Given the description of an element on the screen output the (x, y) to click on. 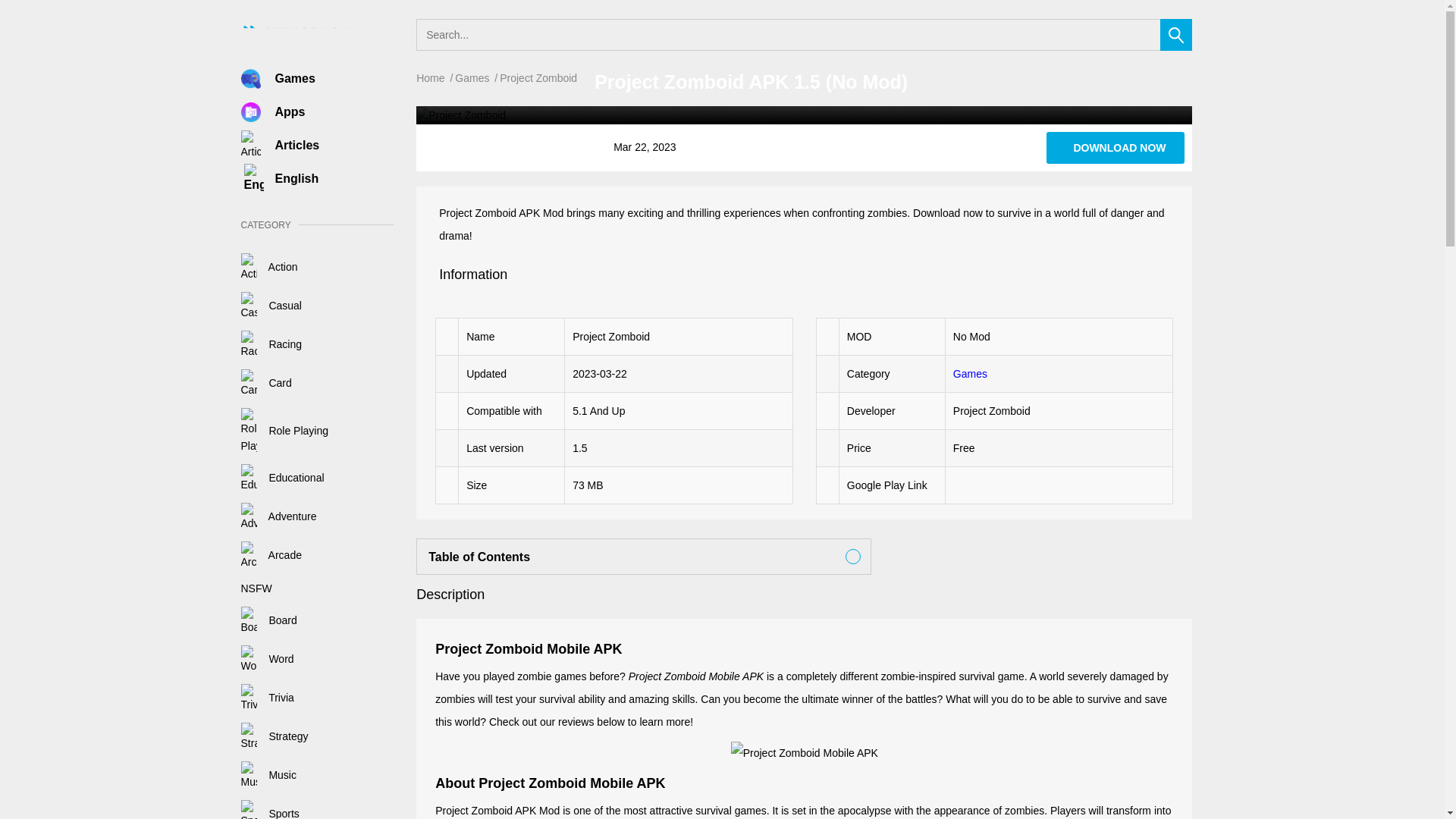
Word (267, 658)
Arcade (271, 554)
Games (294, 78)
Project Zomboid (1115, 147)
Role Playing (285, 430)
Strategy (274, 736)
Card (266, 382)
Music (269, 775)
Trivia (267, 697)
Action (269, 266)
